Given the description of an element on the screen output the (x, y) to click on. 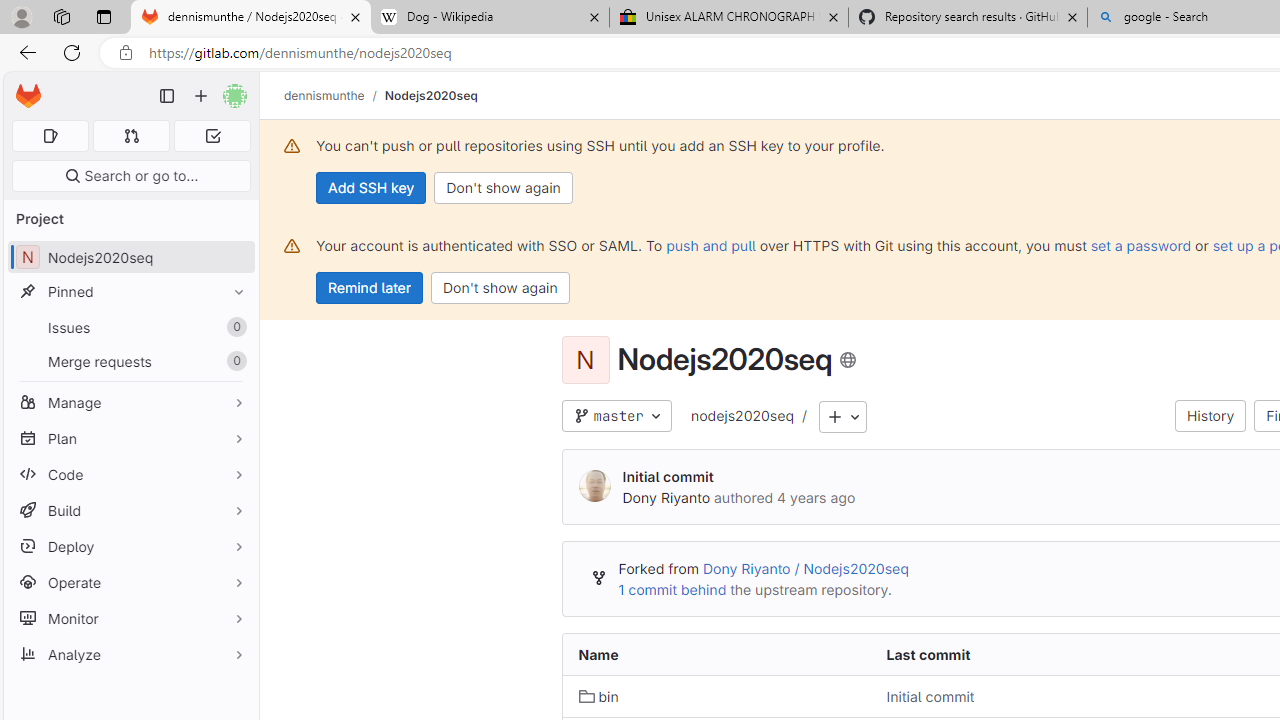
Merge requests 0 (131, 136)
push and pull (710, 245)
Class: s16 icon (848, 359)
Dony Riyanto / Nodejs2020seq (804, 569)
Remind later (369, 287)
Homepage (27, 96)
Dog - Wikipedia (490, 17)
Manage (130, 402)
nodejs2020seq (741, 415)
Code (130, 474)
set a password (1140, 245)
Deploy (130, 546)
